Given the description of an element on the screen output the (x, y) to click on. 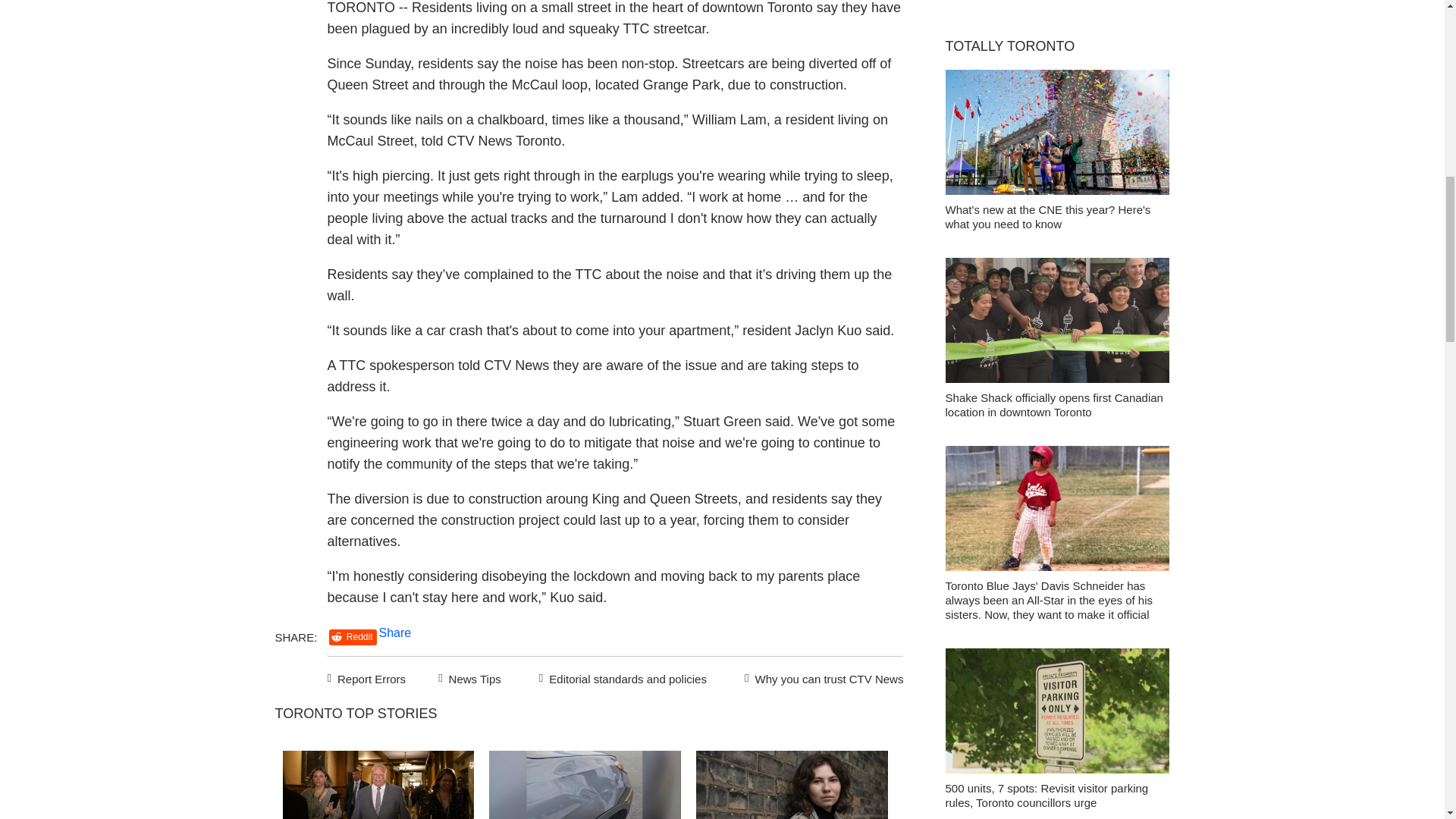
Share (395, 632)
Why you can trust CTV News (820, 676)
Report Errors (366, 676)
Reddit (353, 637)
News Tips (469, 676)
Doug Ford  (378, 785)
Editorial standards and policies (620, 676)
Dent (585, 785)
Youth mental health (791, 785)
